Given the description of an element on the screen output the (x, y) to click on. 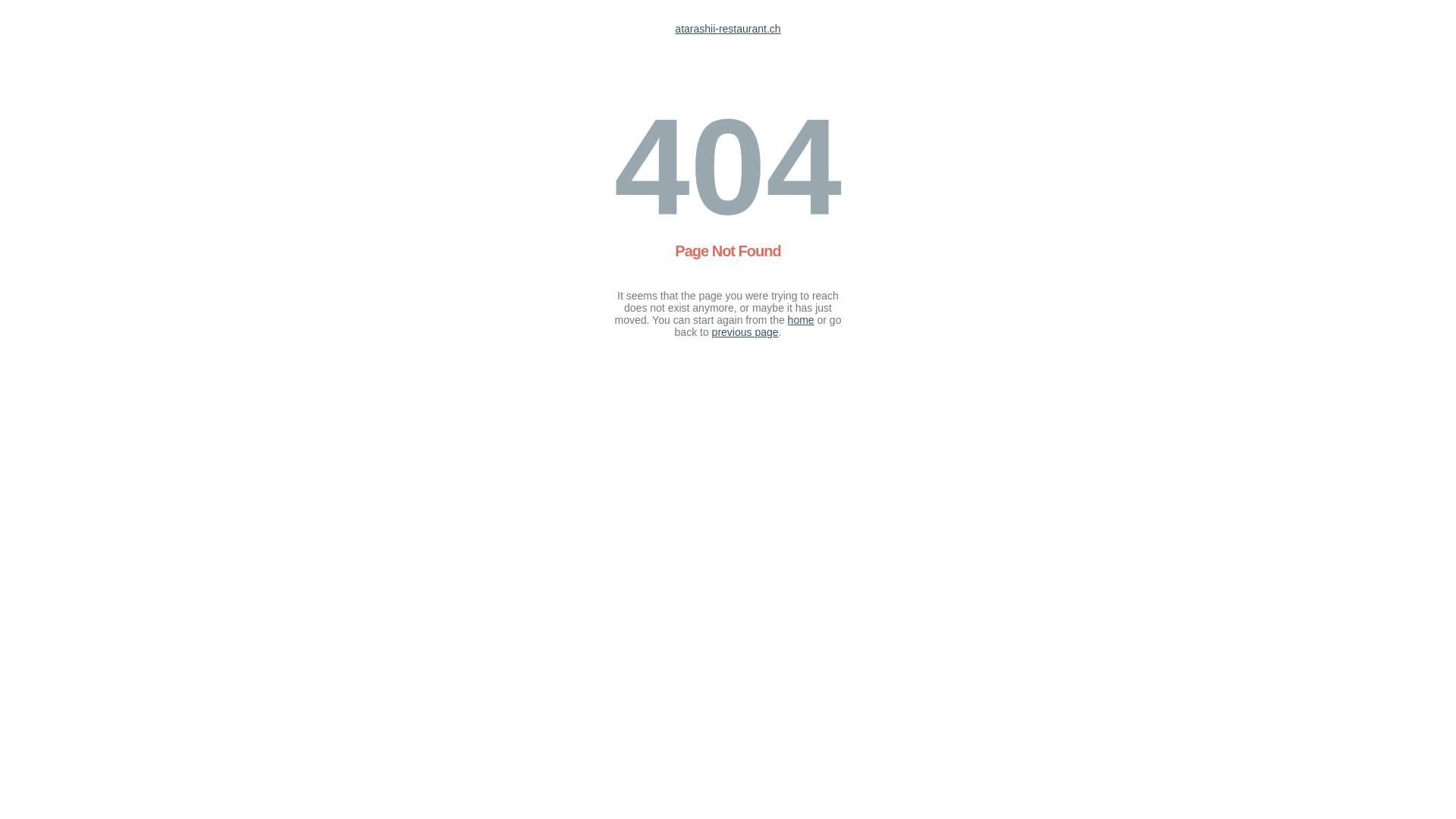
previous page Element type: text (745, 332)
home Element type: text (800, 319)
atarashii-restaurant.ch Element type: text (727, 28)
